Given the description of an element on the screen output the (x, y) to click on. 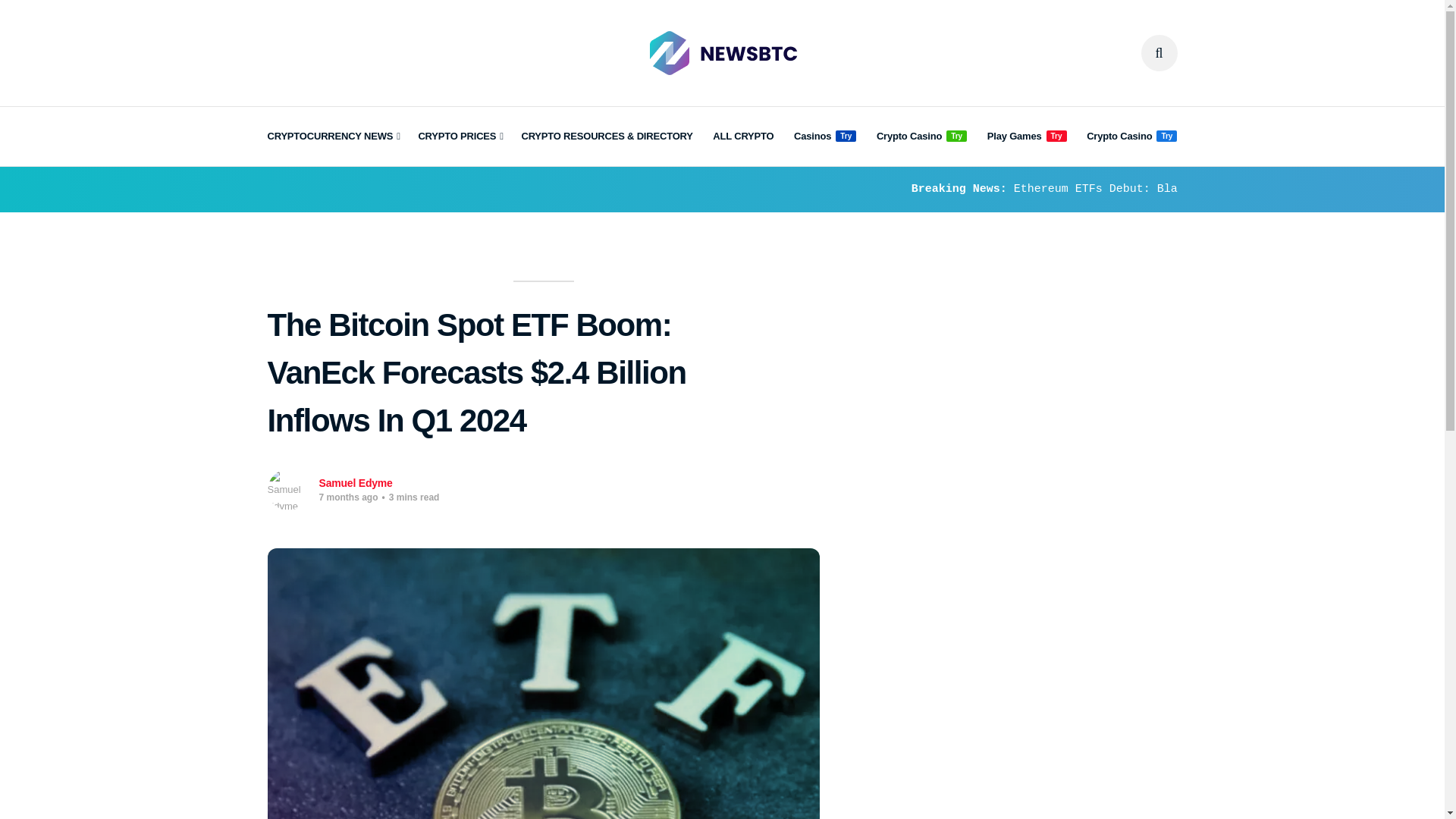
ALL CRYPTO (743, 136)
CRYPTOCURRENCY NEWS (331, 136)
CRYPTO PRICES (458, 136)
